Given the description of an element on the screen output the (x, y) to click on. 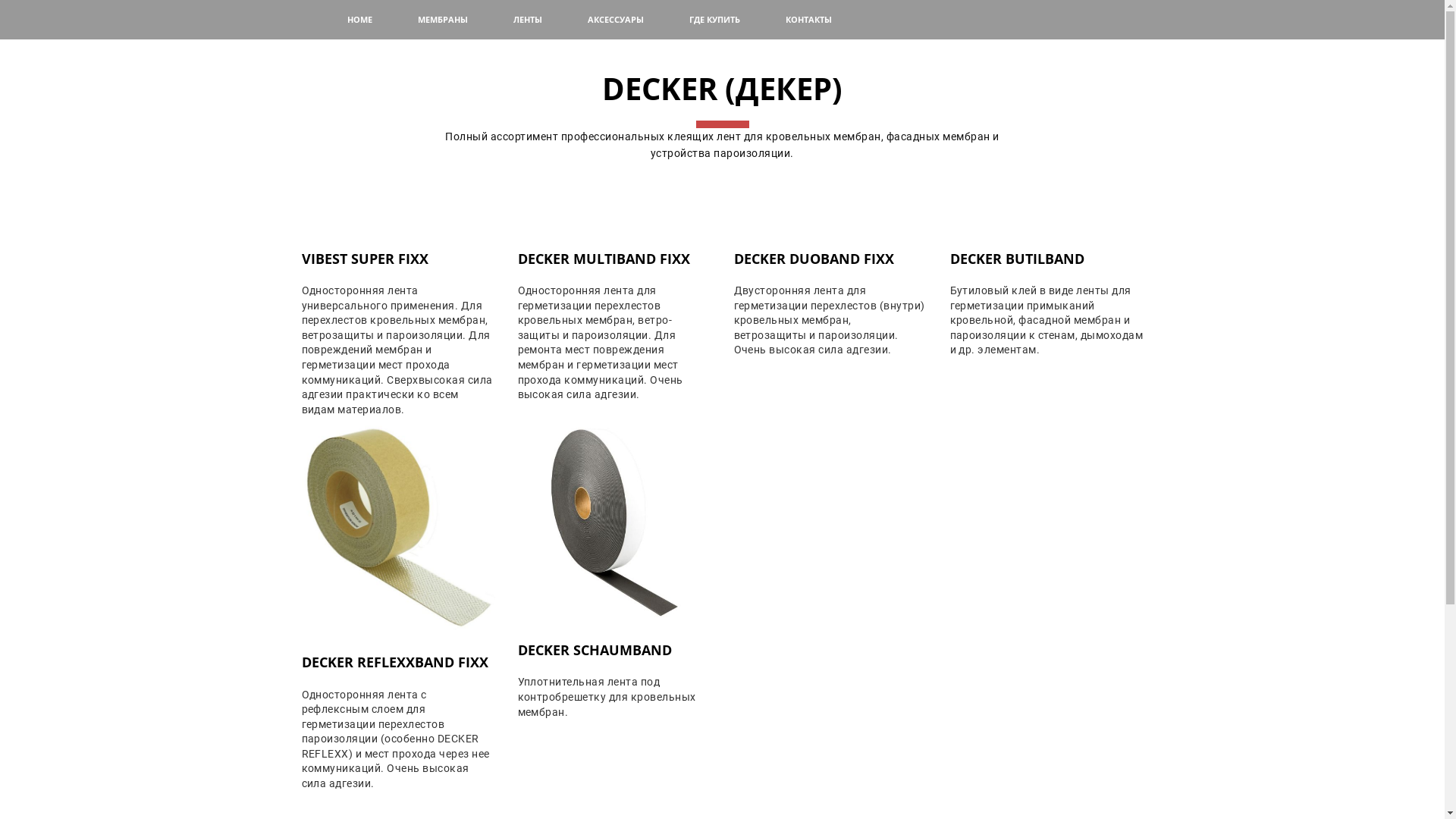
HOME Element type: text (359, 19)
